Given the description of an element on the screen output the (x, y) to click on. 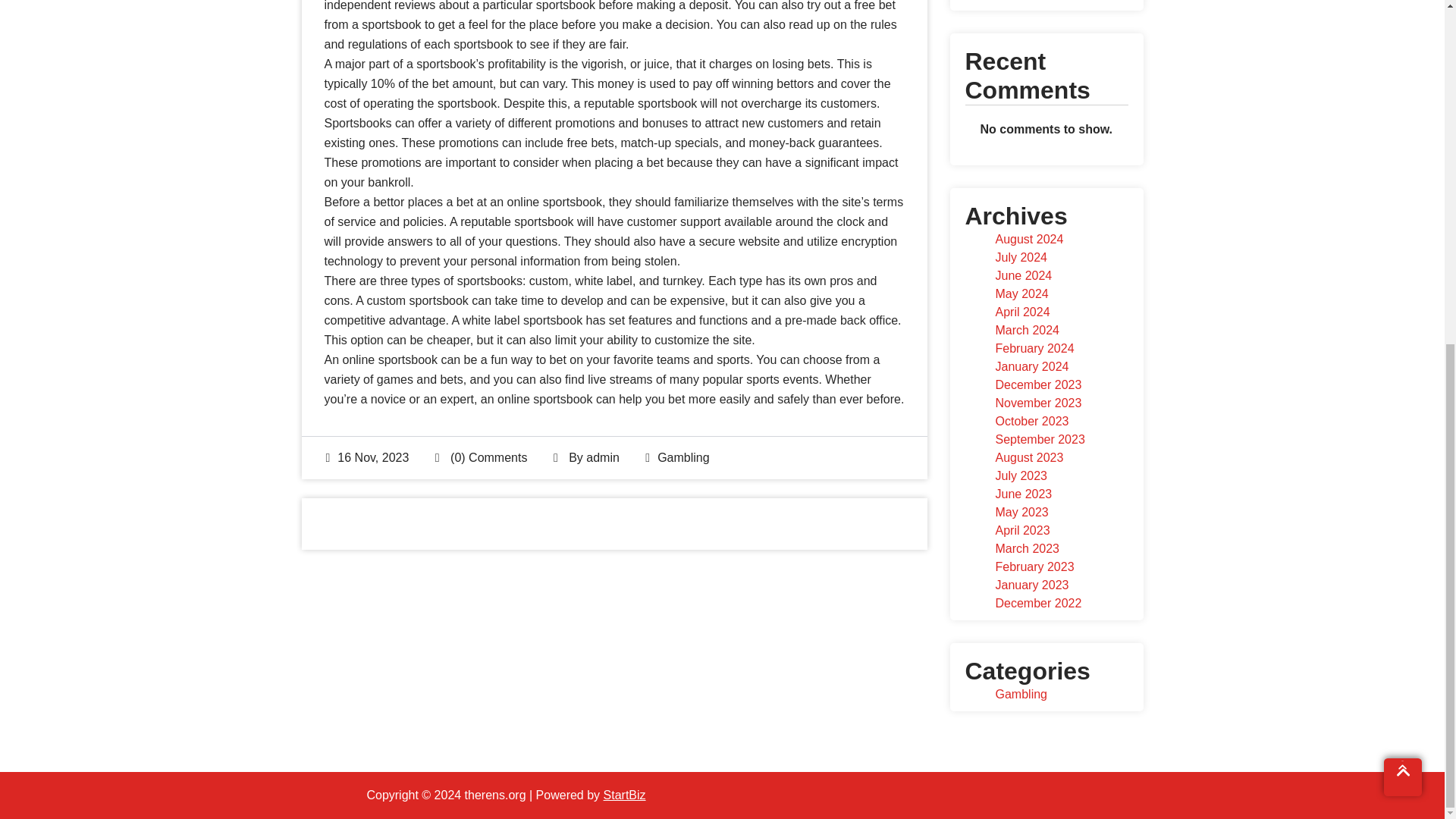
May 2023 (1021, 512)
16 Nov, 2023 (367, 457)
September 2023 (1039, 439)
January 2024 (1031, 366)
August 2023 (1028, 457)
February 2024 (1034, 348)
March 2023 (1026, 548)
July 2023 (1020, 475)
May 2024 (1021, 293)
admin (603, 457)
December 2023 (1037, 384)
November 2023 (1037, 402)
July 2024 (1020, 256)
June 2024 (1022, 275)
March 2024 (1026, 329)
